Given the description of an element on the screen output the (x, y) to click on. 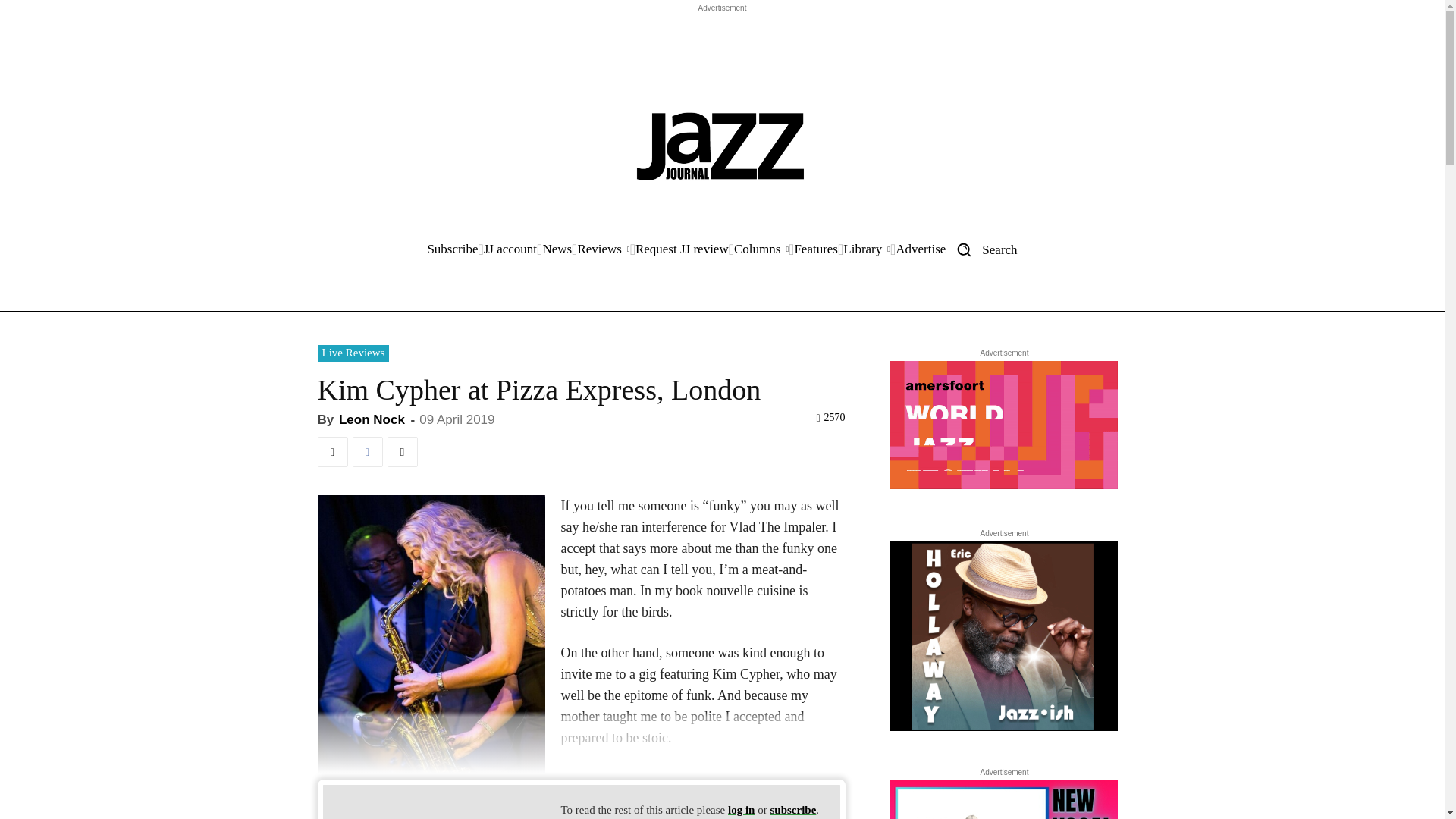
Email (401, 451)
Advertisement (721, 49)
Columns (761, 248)
Facebook (366, 451)
Twitter (332, 451)
JJ account (510, 248)
Request JJ review (681, 248)
Reviews (602, 248)
Subscribe (451, 248)
